Given the description of an element on the screen output the (x, y) to click on. 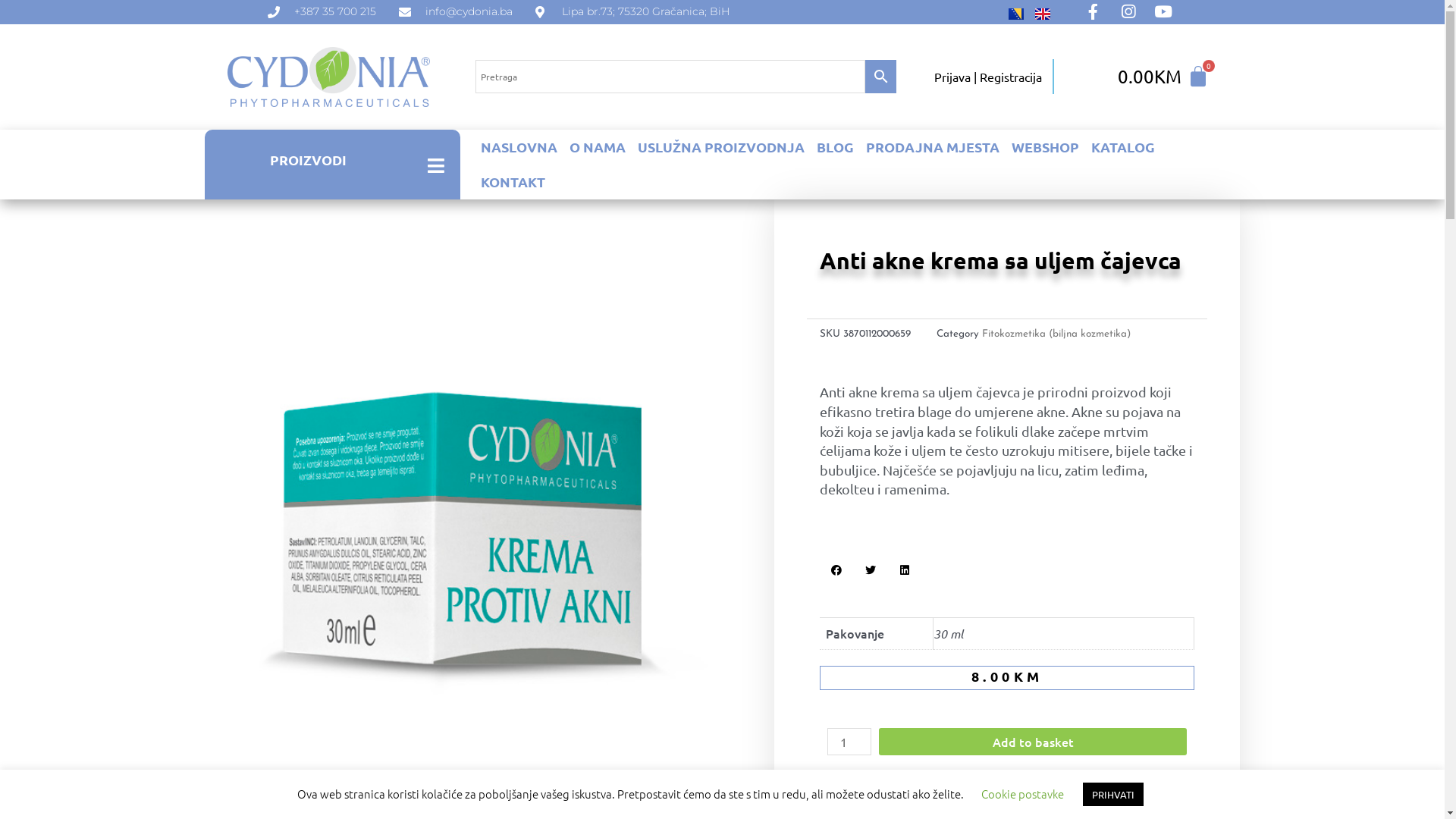
O NAMA Element type: text (597, 146)
Fitokozmetika (biljna kozmetika) Element type: text (1056, 333)
PRIHVATI Element type: text (1112, 794)
WEBSHOP Element type: text (1045, 146)
NASLOVNA Element type: text (518, 146)
KONTAKT Element type: text (512, 181)
BLOG Element type: text (834, 146)
Cookie postavke Element type: text (1022, 793)
0.00KM
0 Element type: text (1163, 76)
PROIZVODI Element type: text (307, 159)
Prijava | Registracija Element type: text (988, 76)
Add to basket Element type: text (1032, 741)
PRODAJNA MJESTA Element type: text (932, 146)
KATALOG Element type: text (1123, 146)
